Given the description of an element on the screen output the (x, y) to click on. 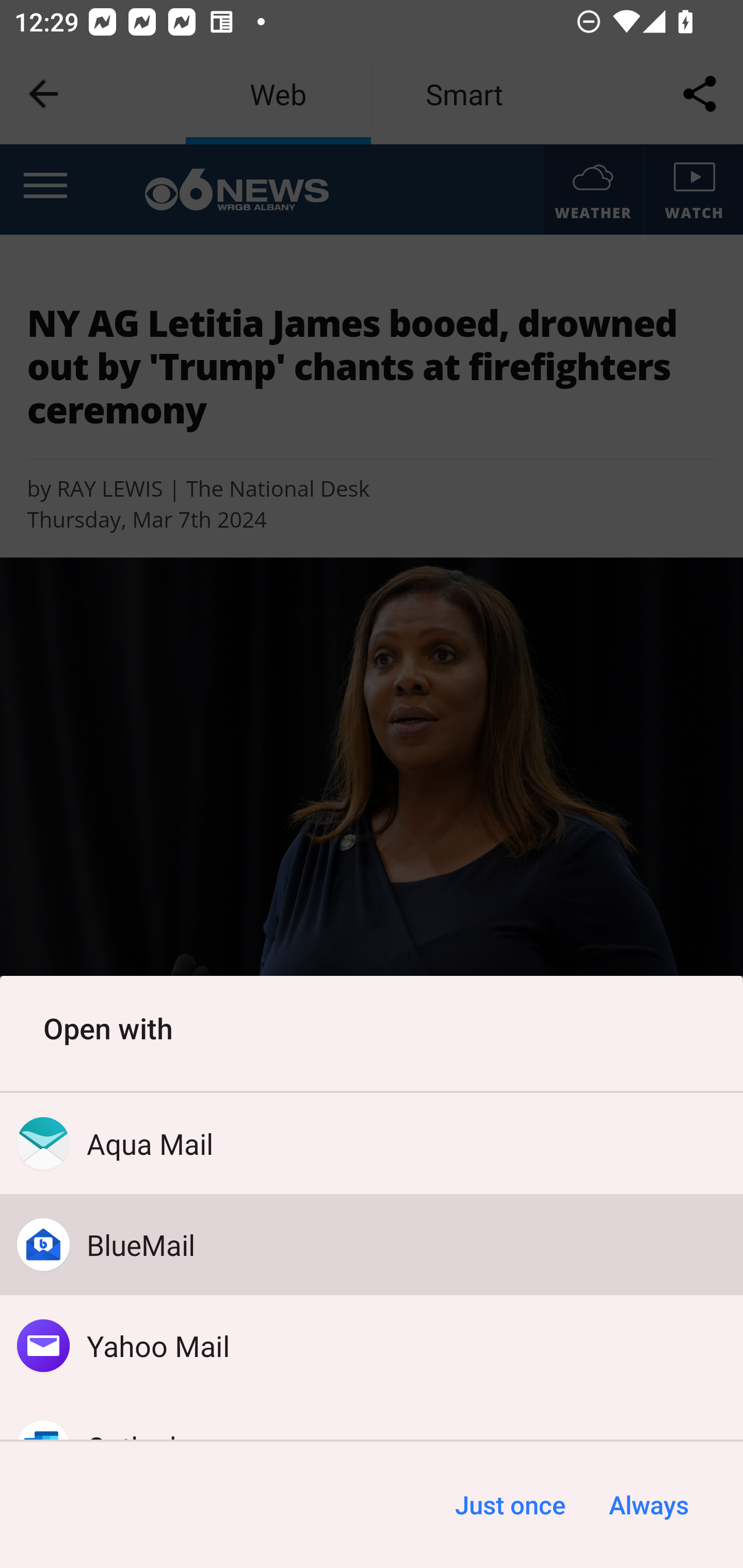
Aqua Mail (371, 1143)
BlueMail (371, 1244)
Yahoo Mail (371, 1345)
Just once (509, 1504)
Always (648, 1504)
